Given the description of an element on the screen output the (x, y) to click on. 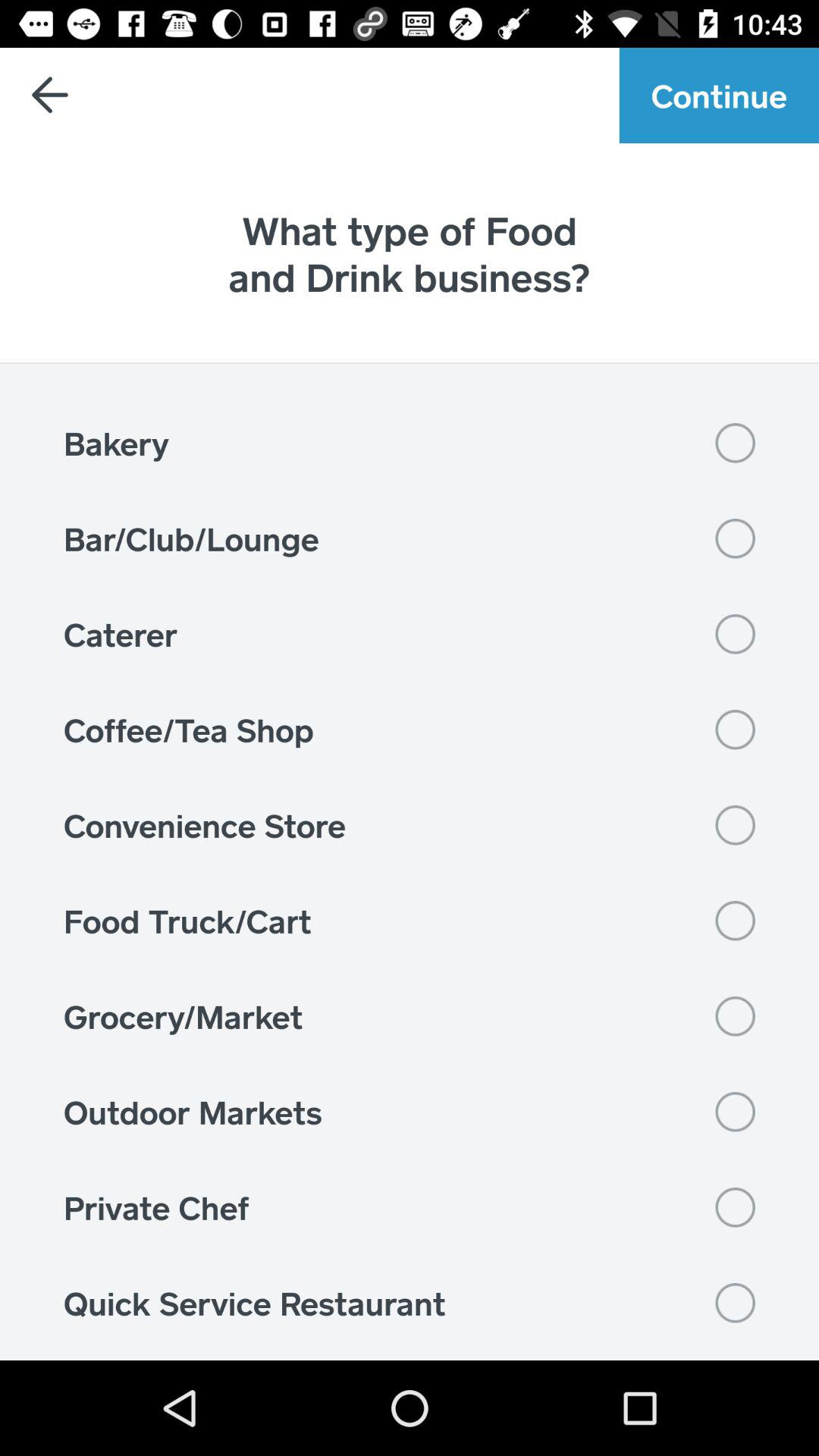
open item below the food truck/cart (409, 1016)
